Given the description of an element on the screen output the (x, y) to click on. 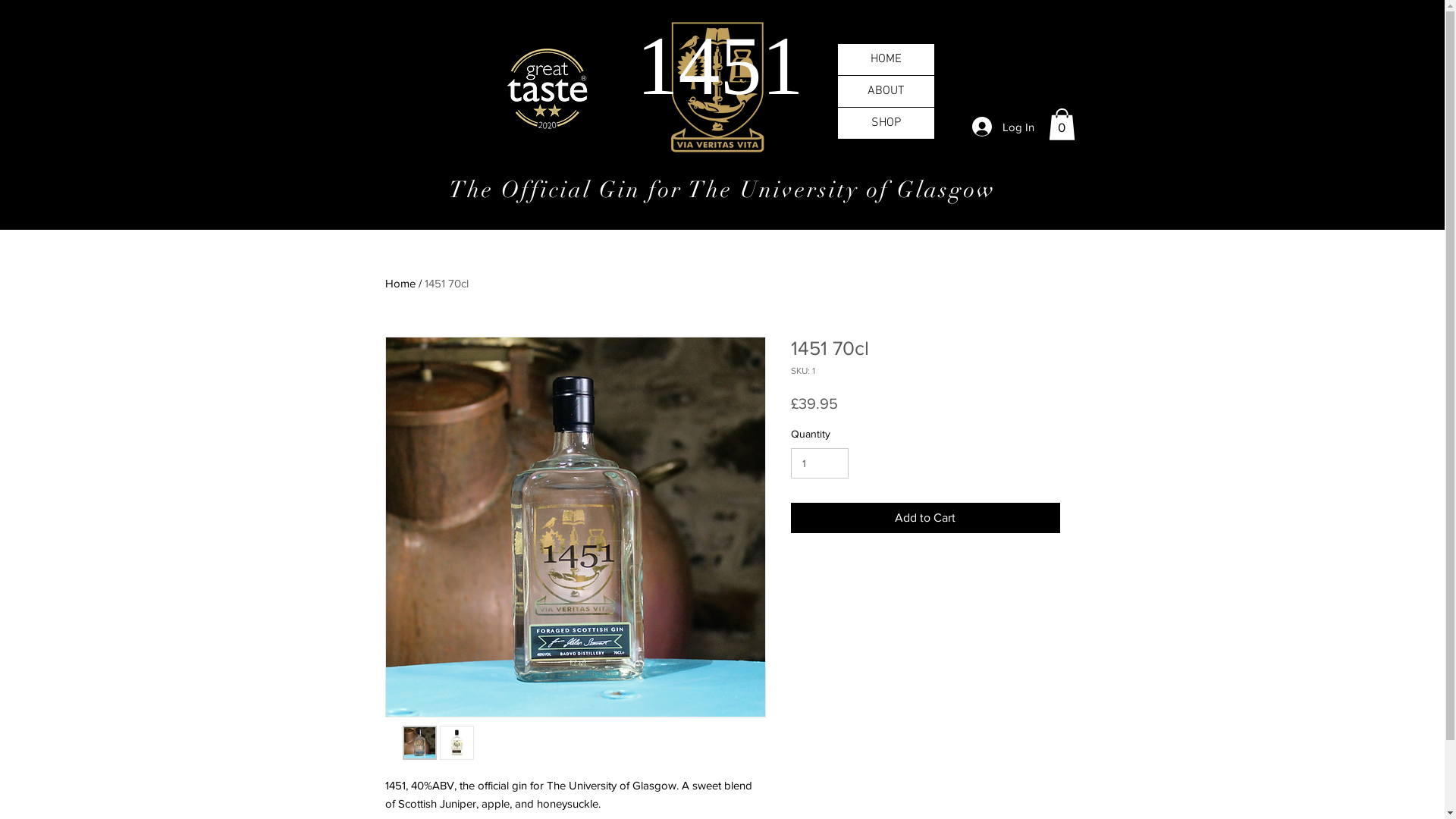
Home Element type: text (400, 282)
HOME Element type: text (885, 59)
ABOUT Element type: text (885, 90)
Log In Element type: text (1002, 126)
Add to Cart Element type: text (924, 517)
1451 70cl Element type: text (446, 282)
SHOP Element type: text (885, 122)
0 Element type: text (1061, 124)
